Given the description of an element on the screen output the (x, y) to click on. 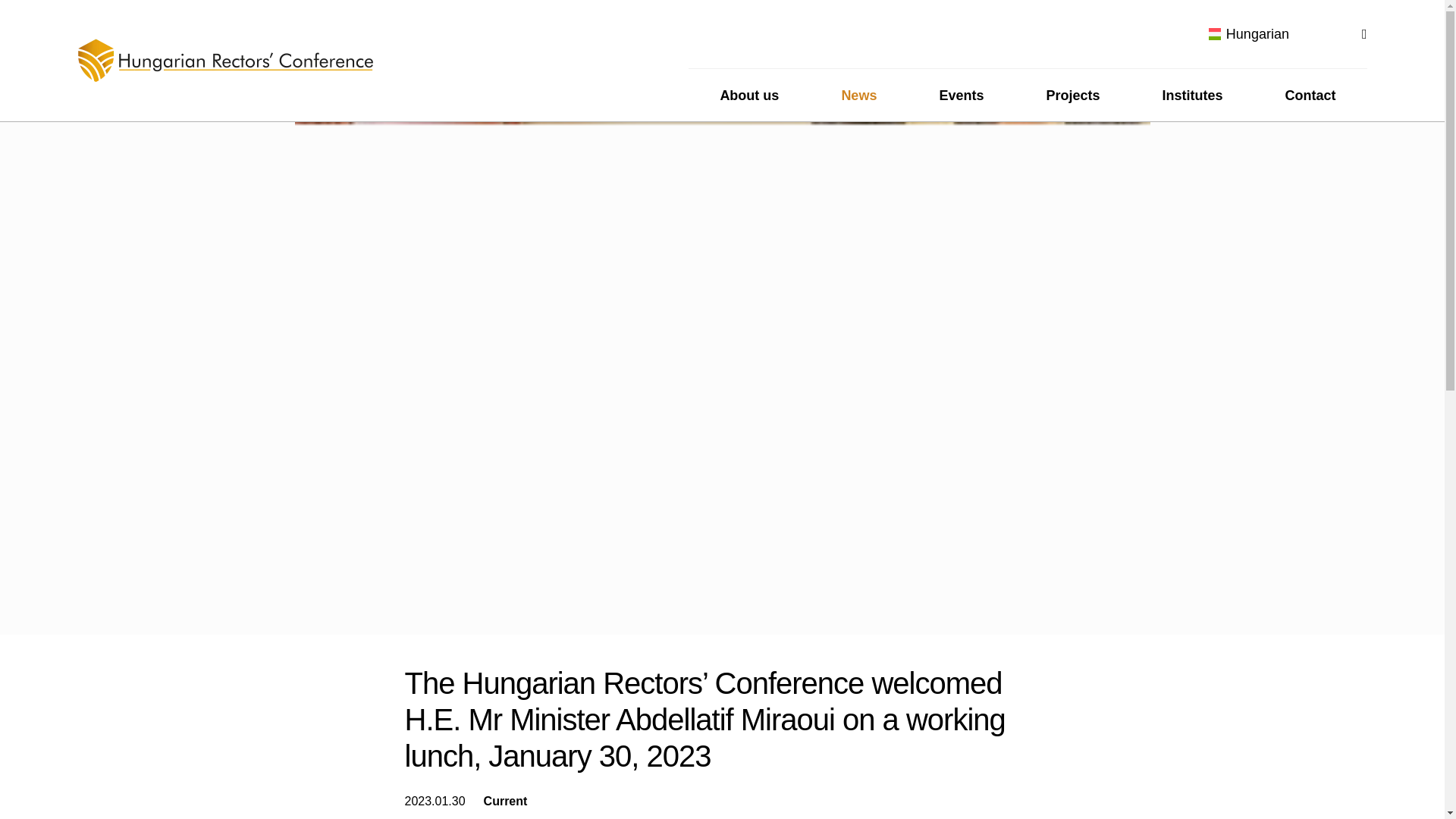
Current (505, 800)
Contact (1310, 94)
Facebook (1166, 33)
Events (960, 94)
Hungarian (1242, 33)
Hungarian (1242, 33)
Institutes (1192, 94)
Projects (1072, 94)
About us (748, 94)
News (858, 94)
